Given the description of an element on the screen output the (x, y) to click on. 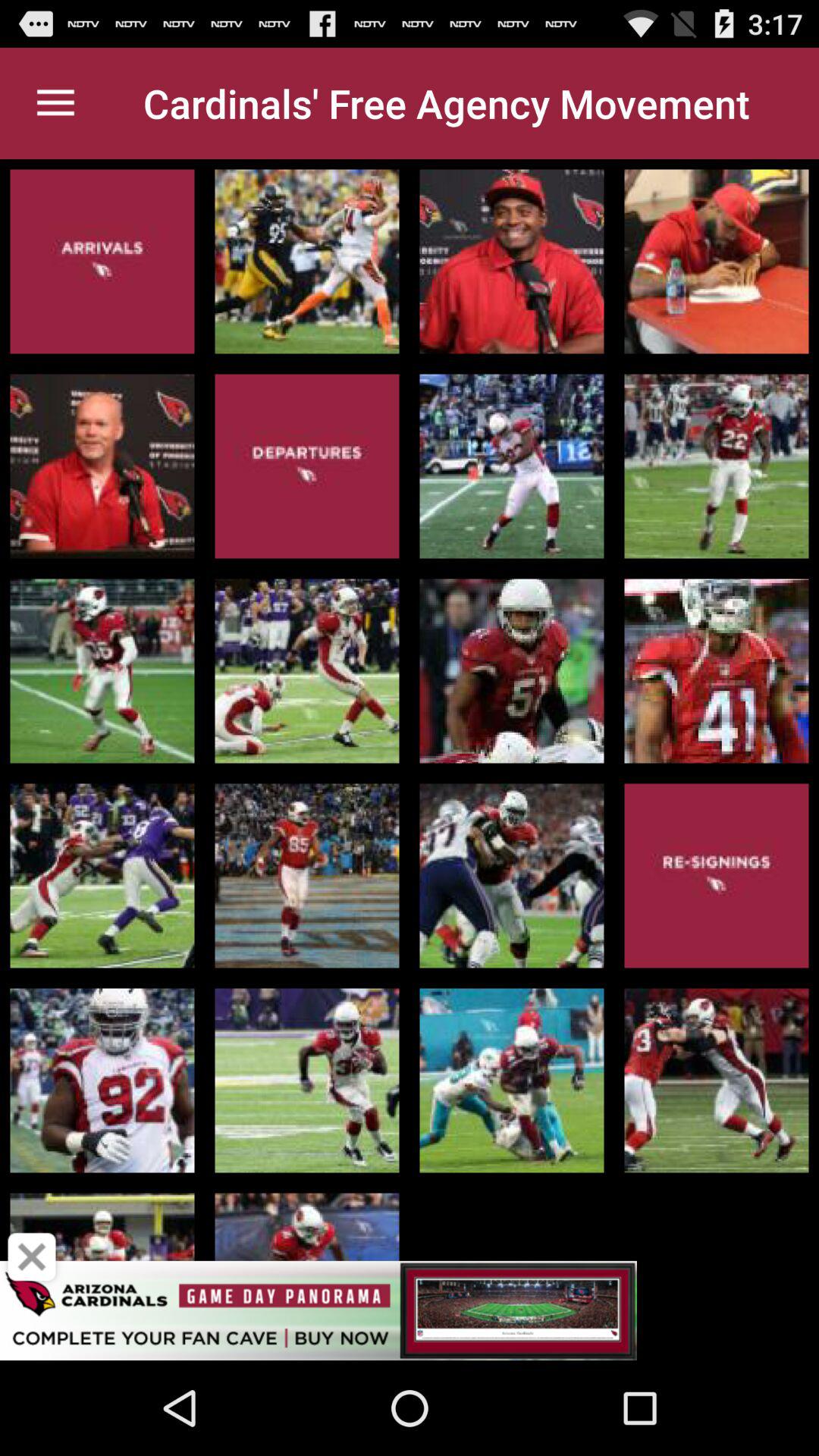
close (31, 1256)
